Given the description of an element on the screen output the (x, y) to click on. 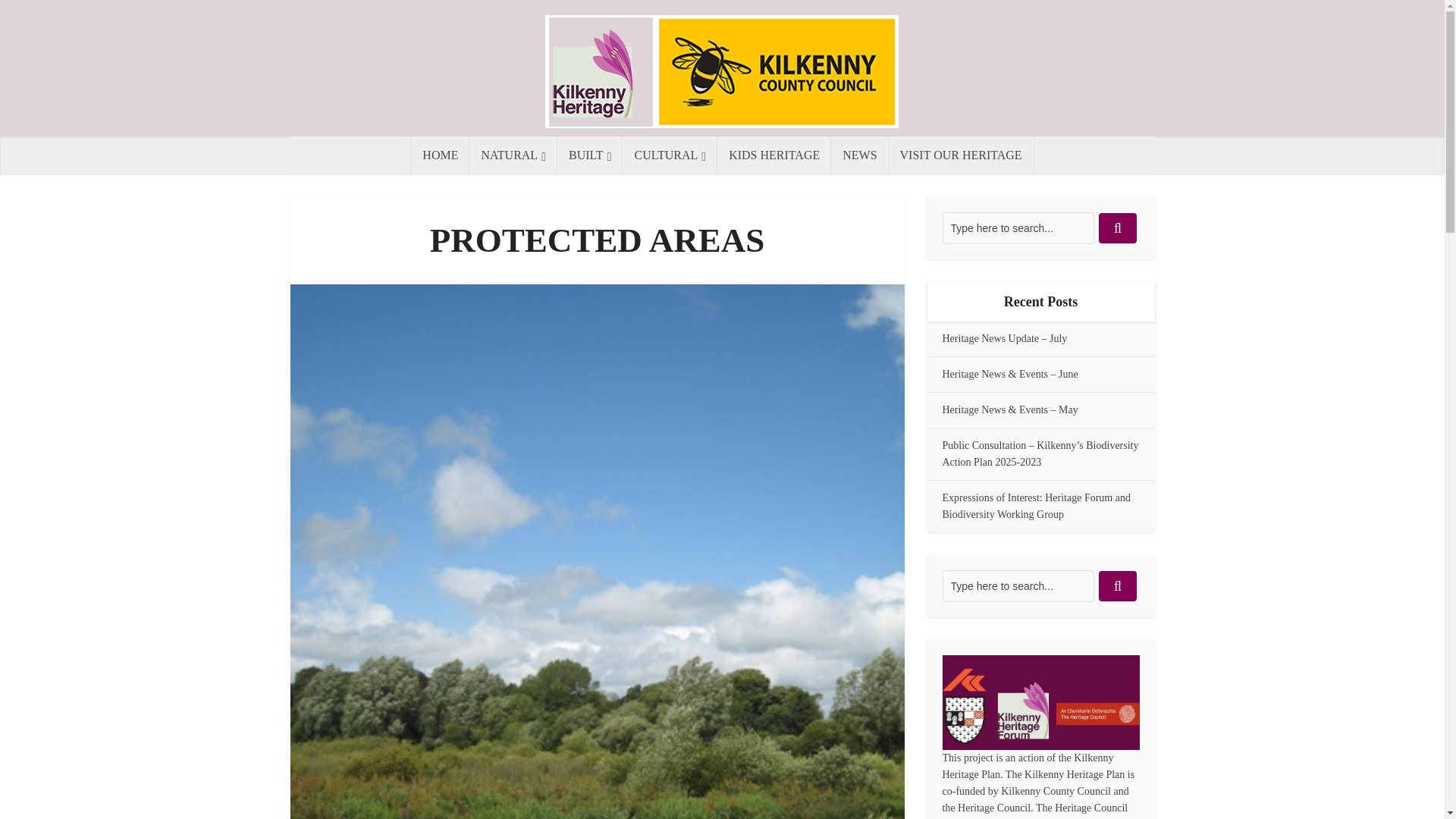
HOME (439, 155)
VISIT OUR HERITAGE (960, 155)
Type here to search... (1017, 585)
Type here to search... (1017, 228)
Kilkenny Heritage (722, 71)
Type here to search... (1017, 228)
NATURAL (512, 155)
NEWS (859, 155)
CULTURAL (670, 155)
BUILT (590, 155)
Type here to search... (1017, 585)
KIDS HERITAGE (774, 155)
